Given the description of an element on the screen output the (x, y) to click on. 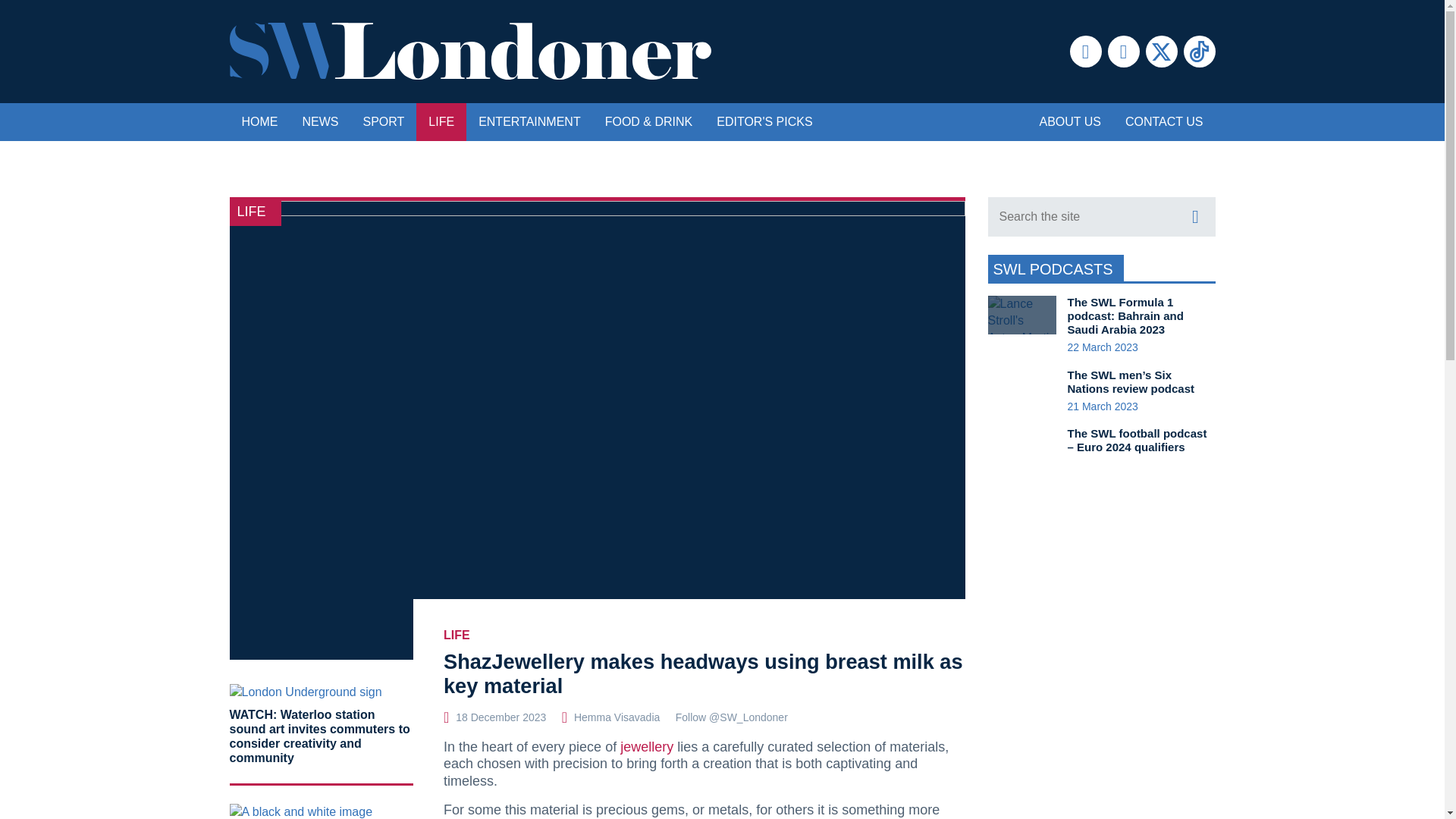
Editor's Picks (764, 121)
ABOUT US (1069, 121)
Entertainment (528, 121)
Contact us (1164, 121)
Sport (383, 121)
Instagram (1122, 51)
The SWL Formula 1 podcast: Bahrain and Saudi Arabia 2023 (1125, 315)
SPORT (383, 121)
News (319, 121)
